Given the description of an element on the screen output the (x, y) to click on. 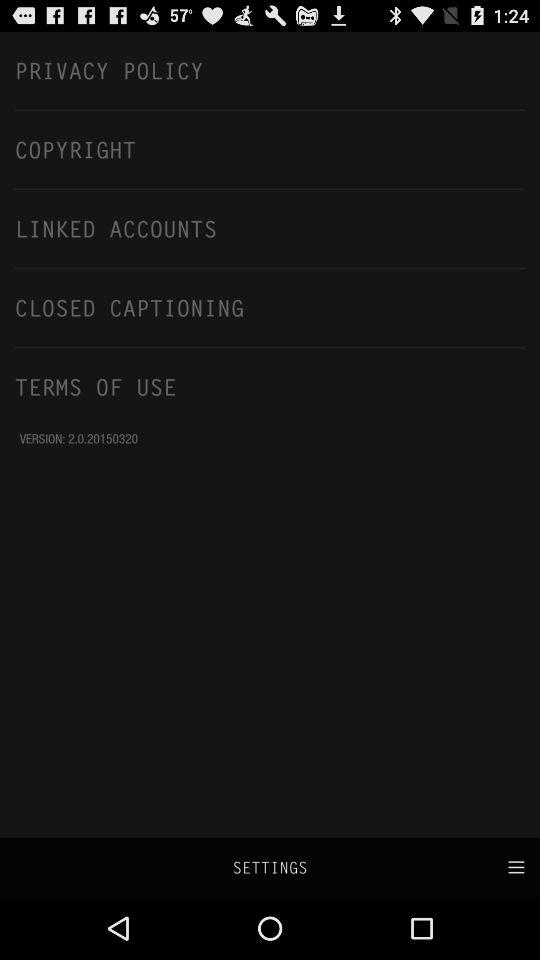
click the copyright (270, 149)
